Given the description of an element on the screen output the (x, y) to click on. 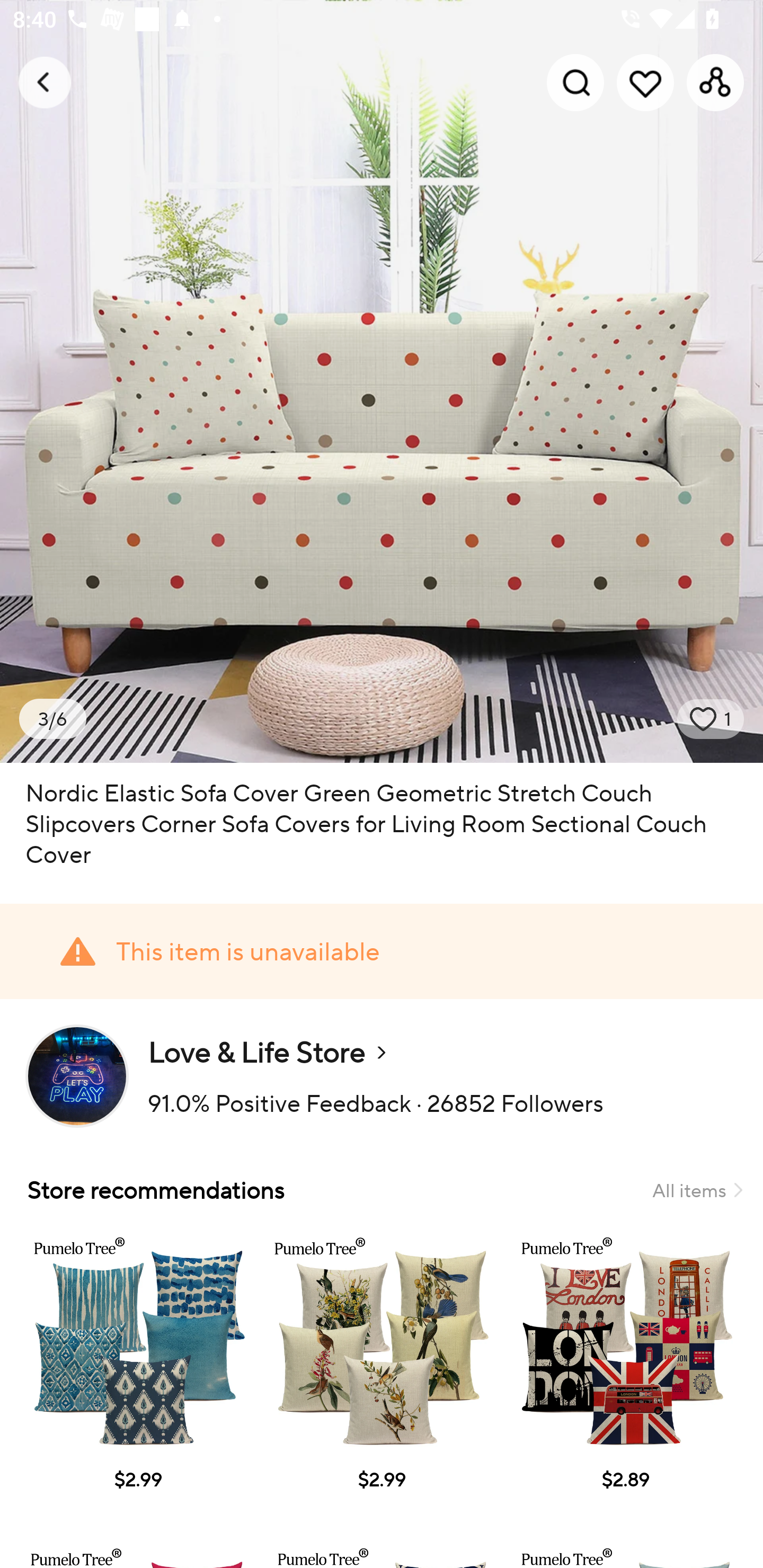
Navigate up (44, 82)
wish state 1 (710, 718)
All items (697, 1190)
$2.99 (137, 1377)
$2.99 (381, 1377)
$2.89 (625, 1377)
